Given the description of an element on the screen output the (x, y) to click on. 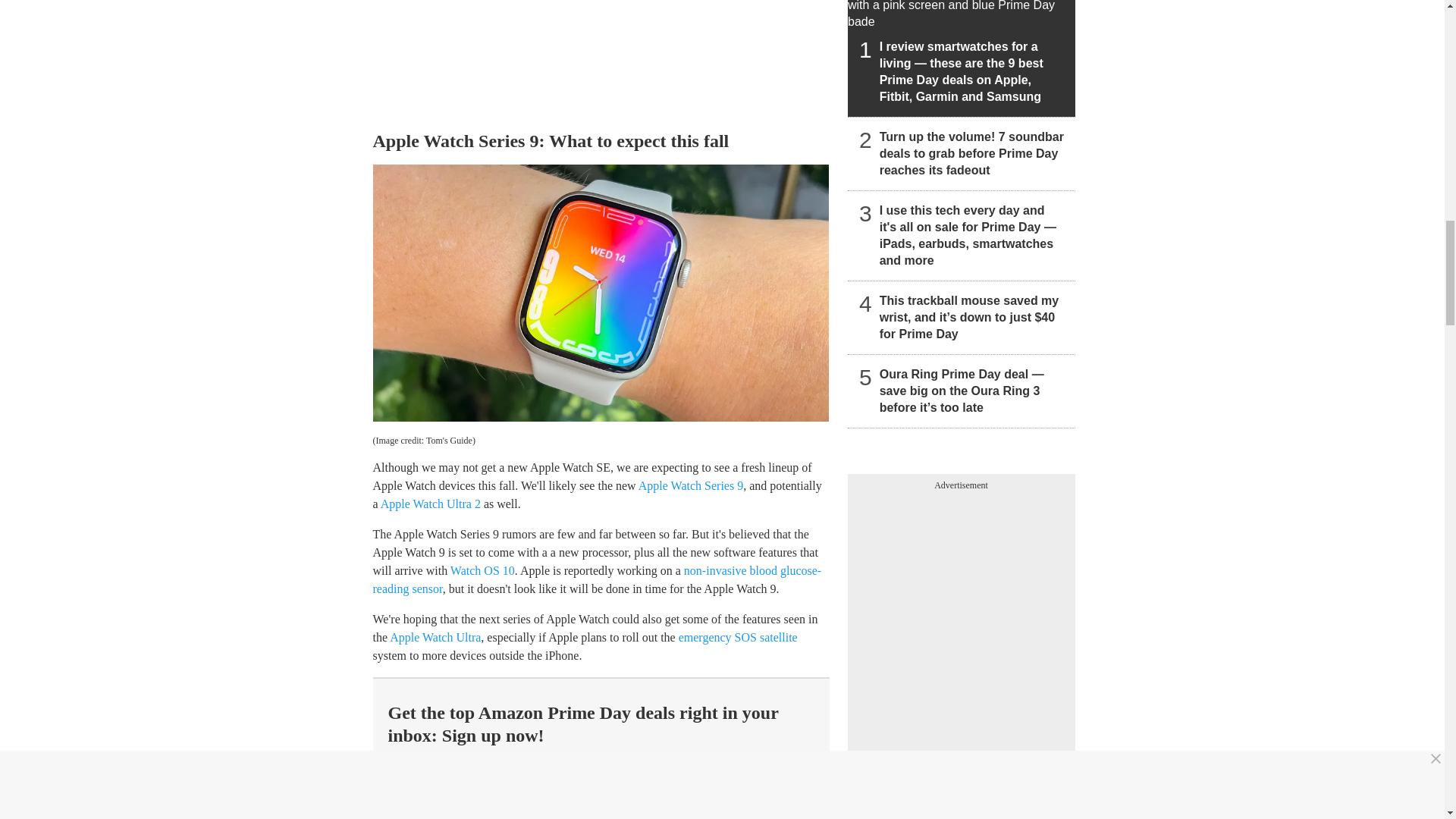
Sign me up (739, 812)
